Given the description of an element on the screen output the (x, y) to click on. 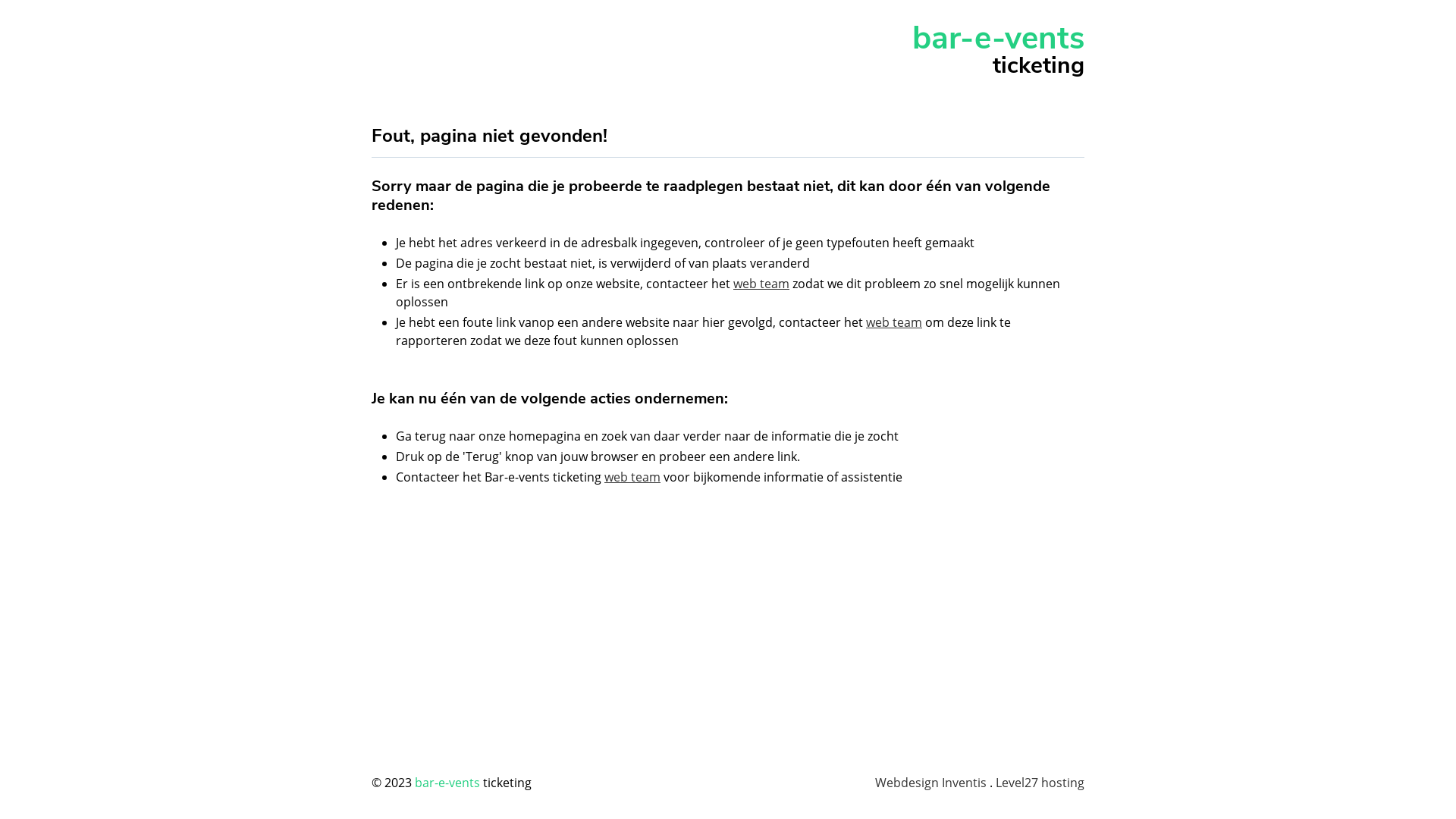
bar-e-vents
ticketing Element type: text (727, 49)
web team Element type: text (894, 321)
Level27 hosting Element type: text (1039, 782)
web team Element type: text (632, 476)
web team Element type: text (761, 283)
Webdesign Inventis Element type: text (930, 782)
